Given the description of an element on the screen output the (x, y) to click on. 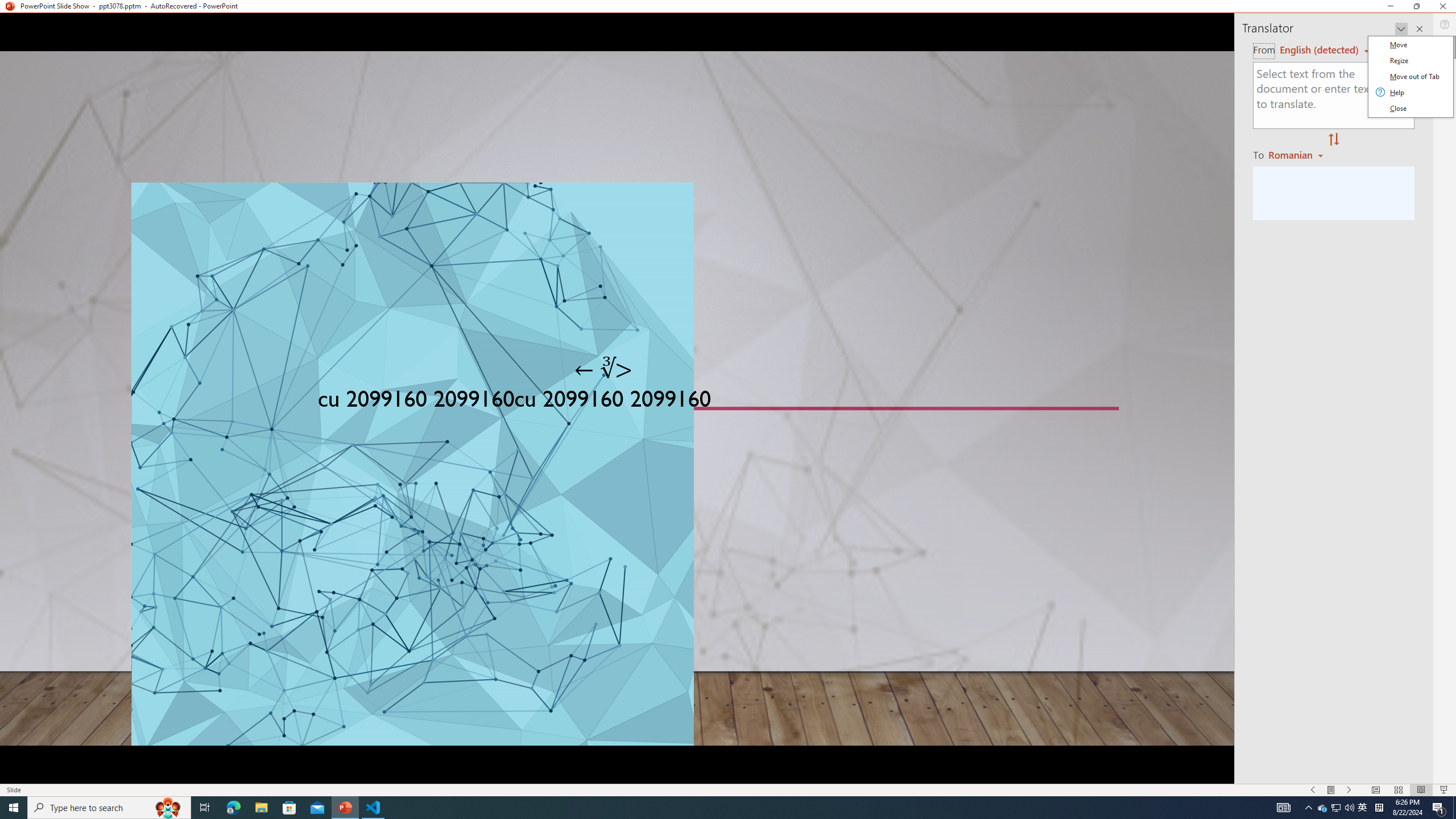
Slide Show Next On (1322, 807)
Slide Show Previous On (1349, 790)
Menu On (1313, 790)
Swap "from" and "to" languages. (1331, 790)
